Given the description of an element on the screen output the (x, y) to click on. 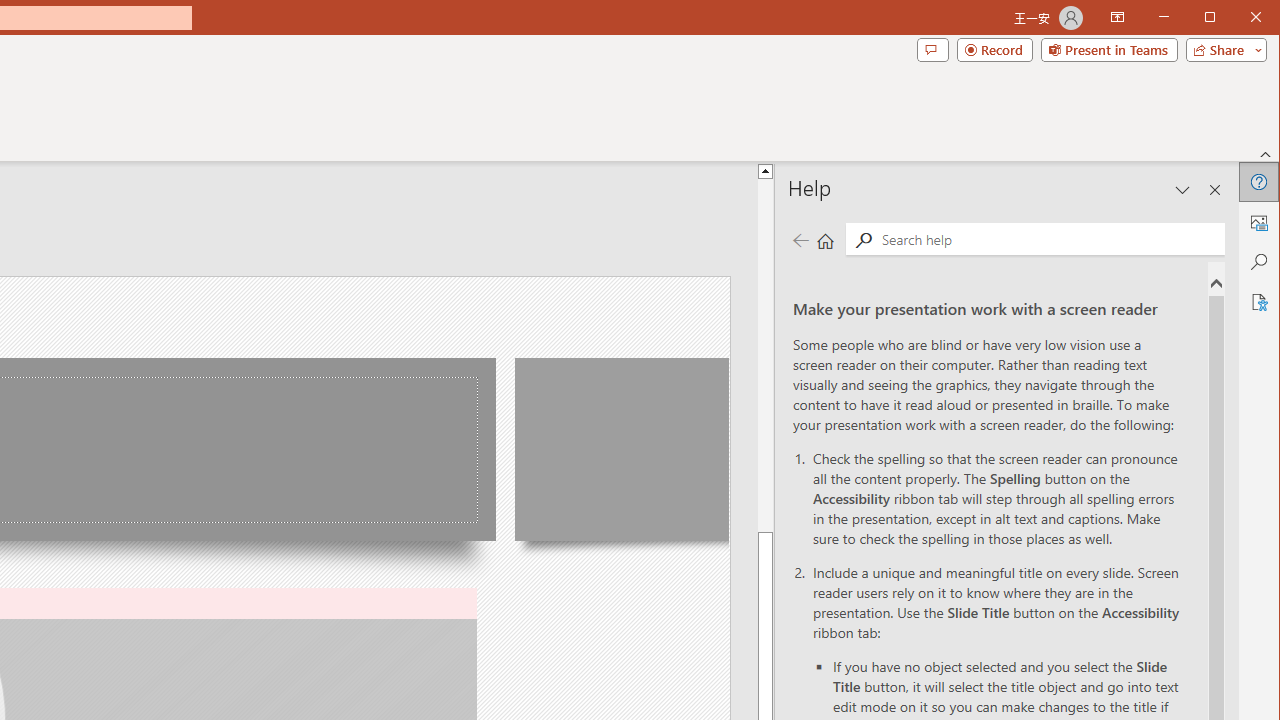
Task Pane Options (1183, 189)
Previous page (800, 240)
Line up (765, 170)
Search (1048, 238)
Collapse the Ribbon (1266, 154)
Page up (765, 355)
Present in Teams (1108, 49)
Accessibility (1258, 301)
